Given the description of an element on the screen output the (x, y) to click on. 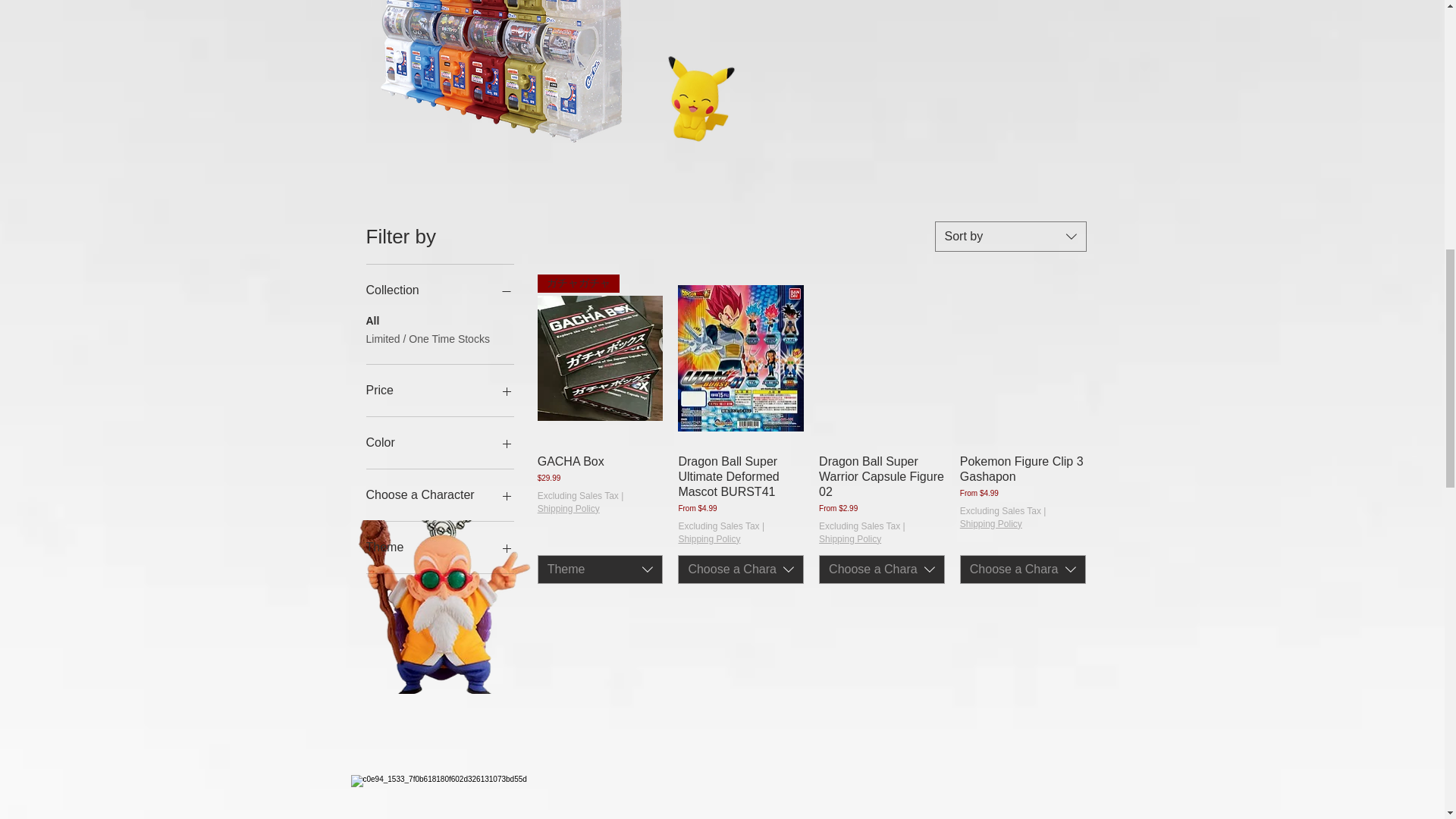
Price (439, 390)
Sort by (1010, 236)
Color (439, 442)
Shipping Policy (849, 539)
Shipping Policy (568, 508)
Shipping Policy (708, 539)
Choose a Character (439, 495)
Choose a Character (740, 569)
Theme (600, 569)
Collection (439, 290)
Theme (439, 547)
